Given the description of an element on the screen output the (x, y) to click on. 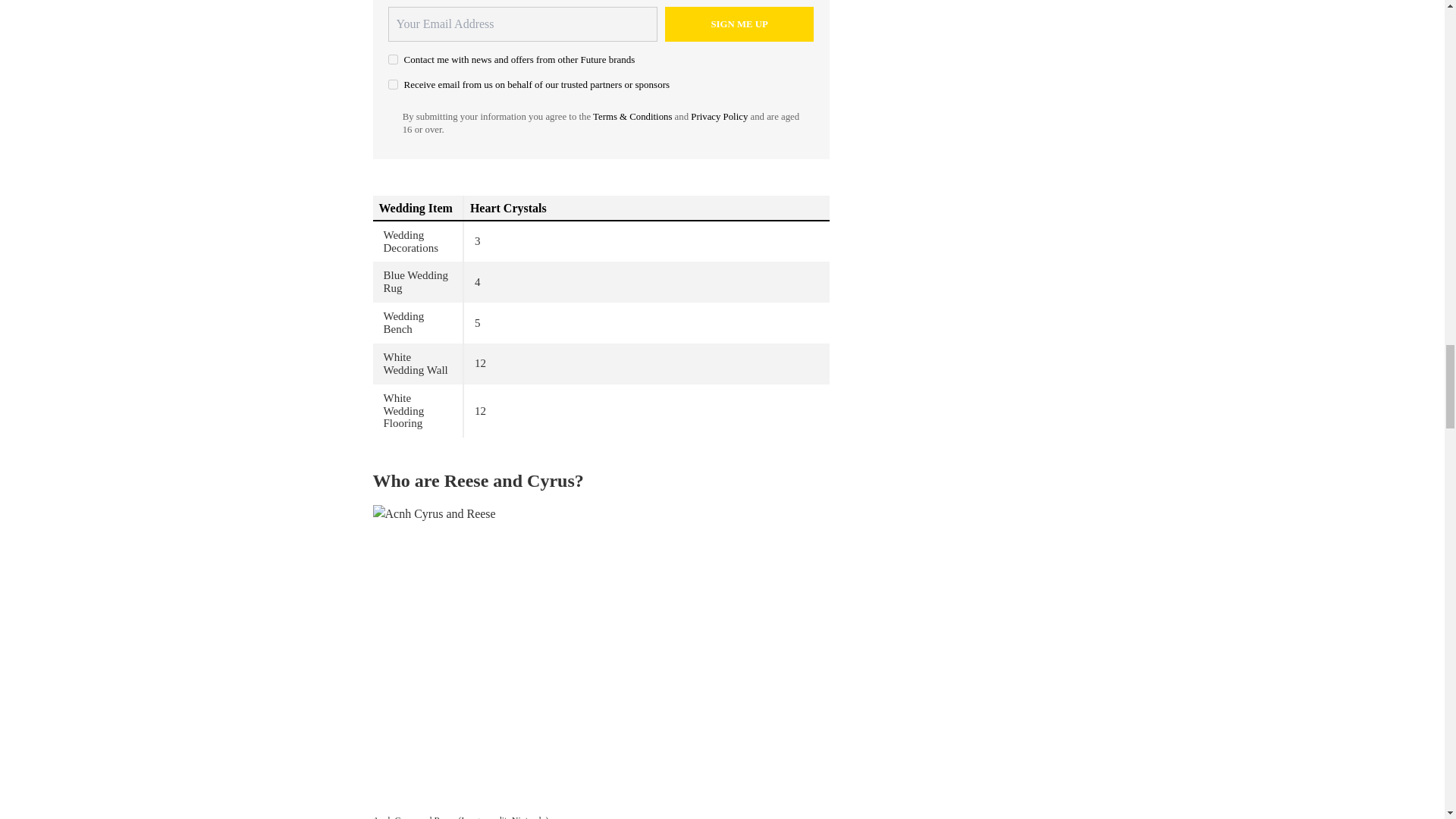
on (392, 84)
Sign me up (739, 23)
on (392, 59)
